Given the description of an element on the screen output the (x, y) to click on. 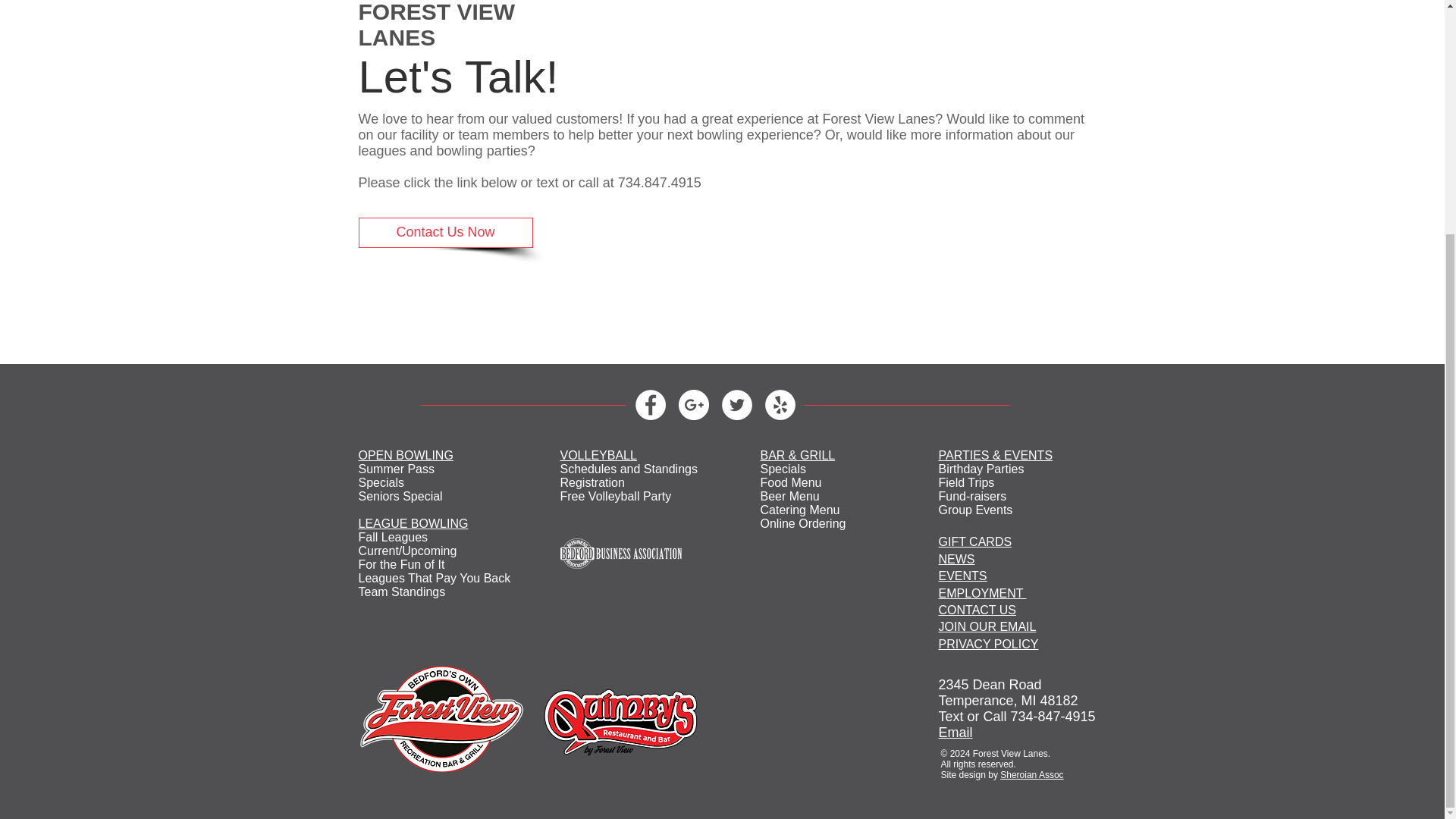
LEAGUE BOWLING (412, 522)
EMPLOYMENT  (982, 593)
PRIVACY POLICY (989, 644)
OPEN BOWLING (405, 454)
VOLLEYBALL (597, 454)
JOIN OUR EMAIL (987, 626)
NEWS (957, 558)
Email (955, 732)
EVENTS (963, 575)
CONTACT US (977, 609)
Contact Us Now (445, 232)
GIFT CARDS (975, 541)
